Given the description of an element on the screen output the (x, y) to click on. 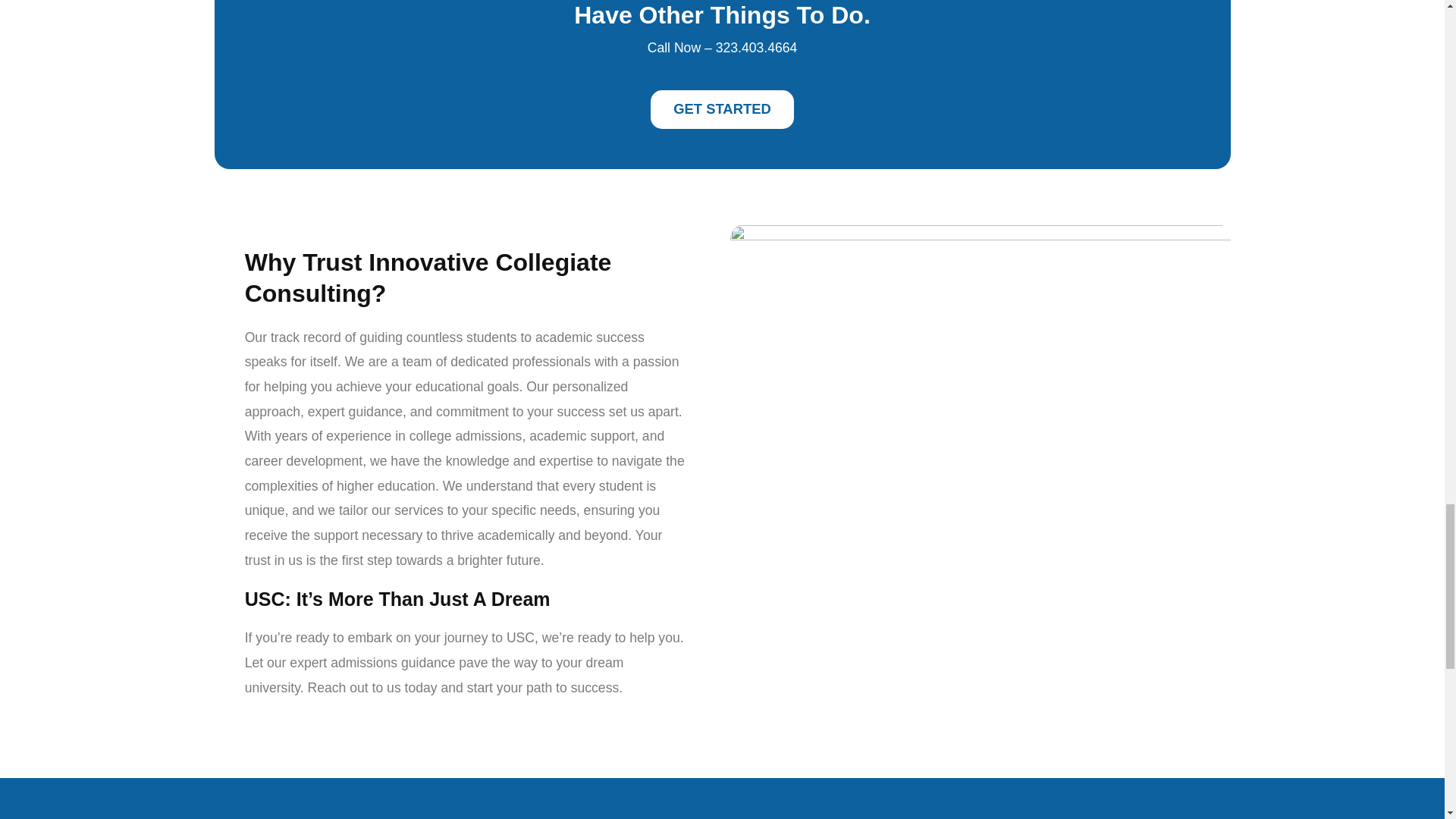
GET STARTED (721, 108)
323.403.4664 (756, 47)
